Given the description of an element on the screen output the (x, y) to click on. 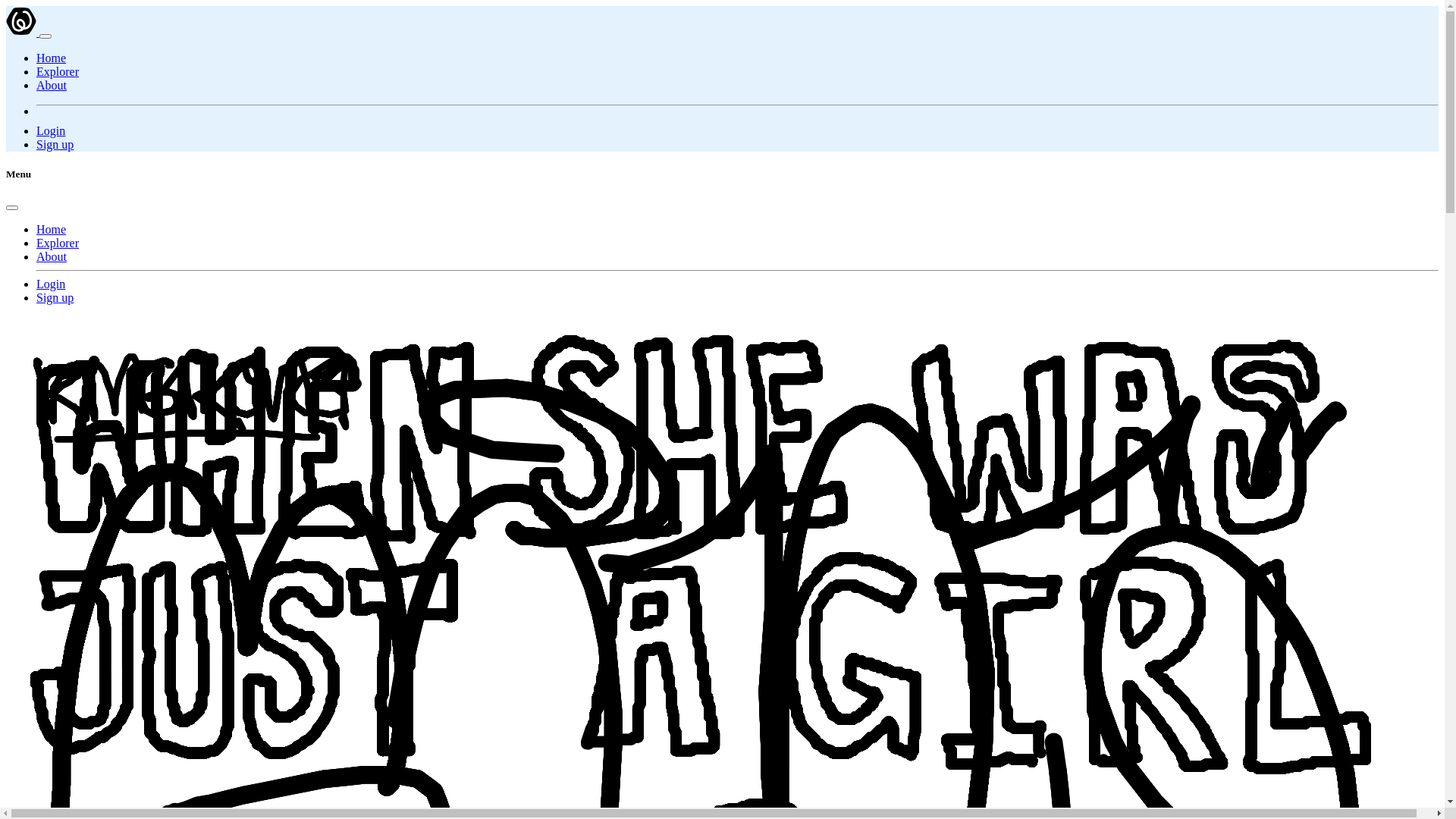
Home Element type: text (50, 57)
About Element type: text (51, 256)
Explorer Element type: text (57, 71)
Login Element type: text (50, 130)
Login Element type: text (50, 283)
Explorer Element type: text (57, 242)
Home Element type: text (50, 228)
Sign up Element type: text (54, 144)
About Element type: text (51, 84)
Sign up Element type: text (54, 297)
